Given the description of an element on the screen output the (x, y) to click on. 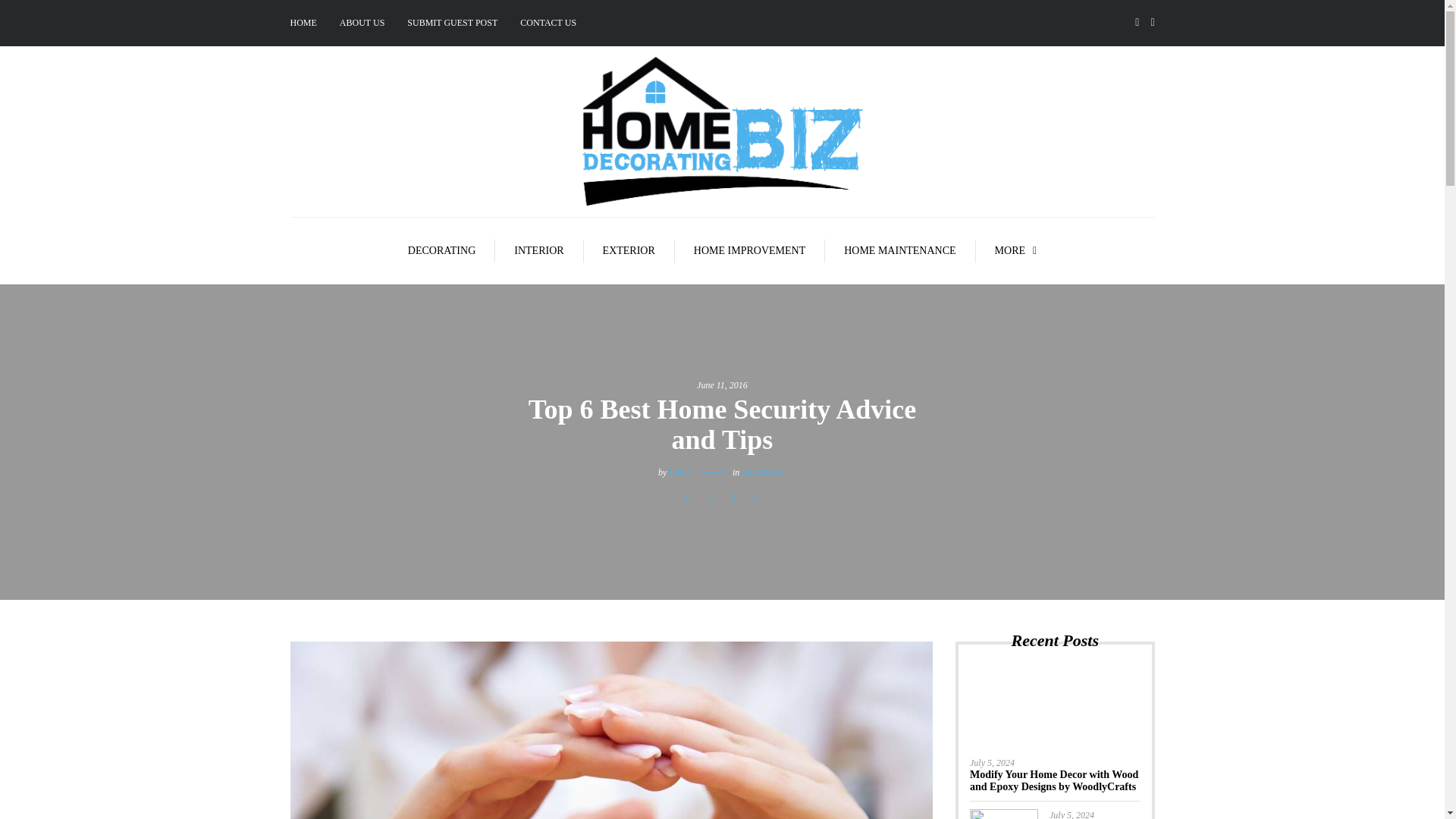
MORE (1016, 250)
HOME IMPROVEMENT (750, 250)
INTERIOR (539, 250)
SUBMIT GUEST POST (452, 22)
Tweet this (710, 497)
ABOUT US (362, 22)
CONTACT US (548, 22)
Share this (687, 497)
Pin this (755, 497)
Share with Google Plus (733, 497)
